Given the description of an element on the screen output the (x, y) to click on. 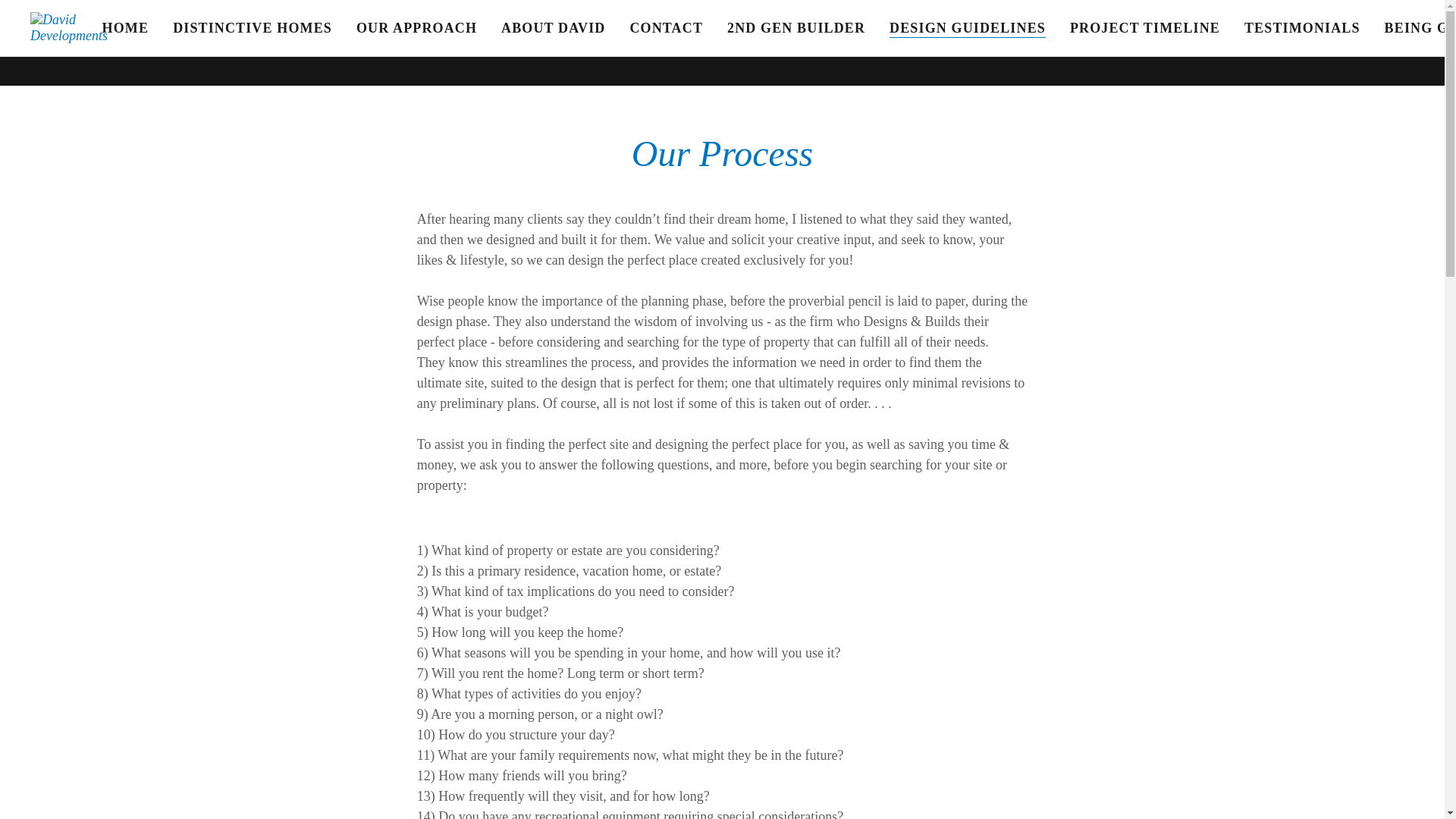
OUR APPROACH (416, 27)
TESTIMONIALS (1302, 27)
PROJECT TIMELINE (1144, 27)
ABOUT DAVID (553, 27)
David Developments (92, 26)
DISTINCTIVE HOMES (252, 27)
2ND GEN BUILDER (795, 27)
HOME (125, 27)
DESIGN GUIDELINES (967, 27)
CONTACT (665, 27)
